Given the description of an element on the screen output the (x, y) to click on. 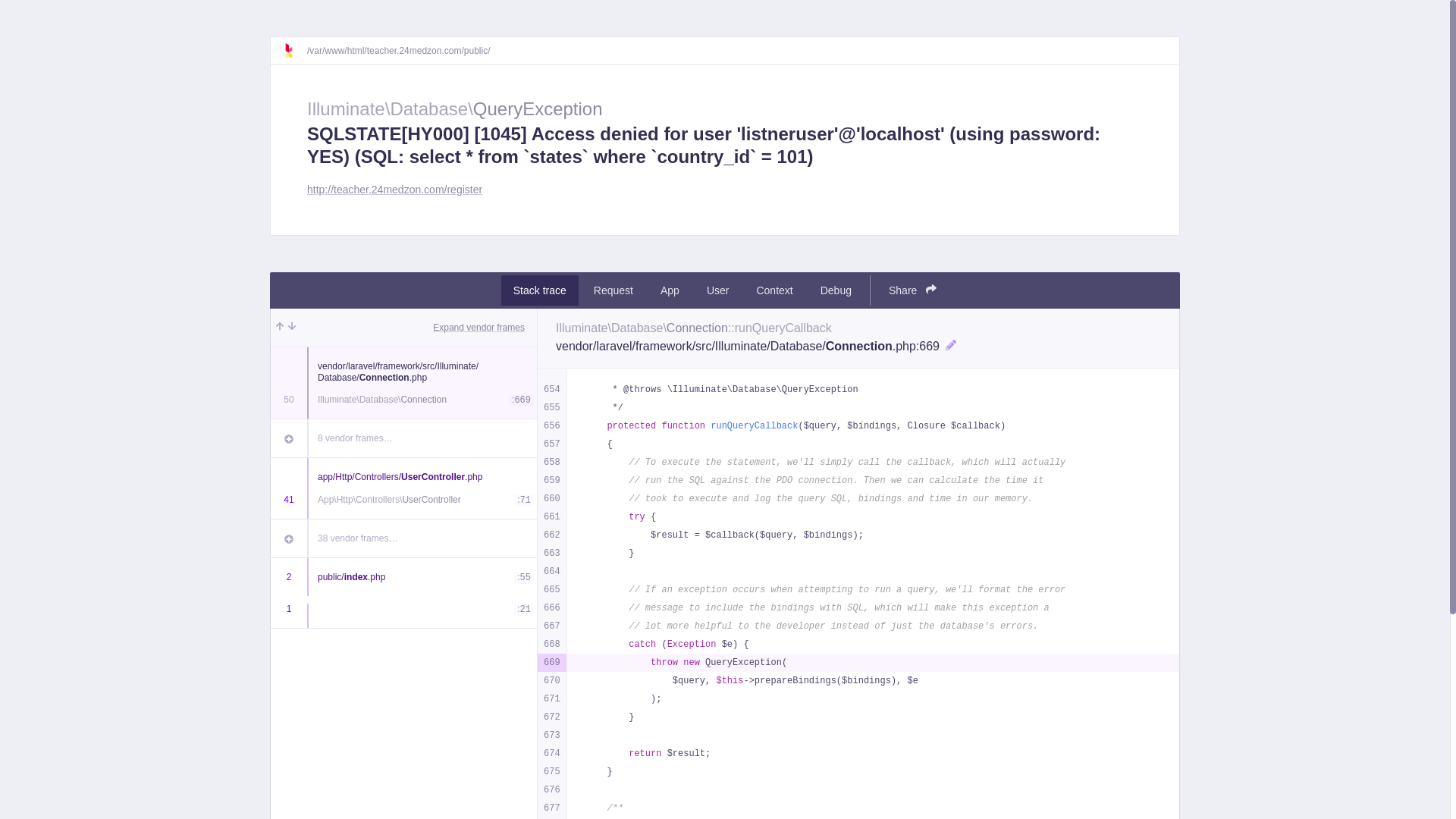
Share Element type: text (912, 290)
Context Element type: text (773, 290)
Ignition docs Element type: hover (294, 50)
App Element type: text (669, 290)
Request Element type: text (613, 290)
Frame up (Key:K) Element type: hover (279, 327)
http://teacher.24medzon.com/register Element type: text (394, 190)
Expand vendor frames Element type: text (478, 327)
Stack trace Element type: text (539, 290)
Frame down (Key:J) Element type: hover (291, 327)
Debug Element type: text (835, 290)
User Element type: text (717, 290)
